Given the description of an element on the screen output the (x, y) to click on. 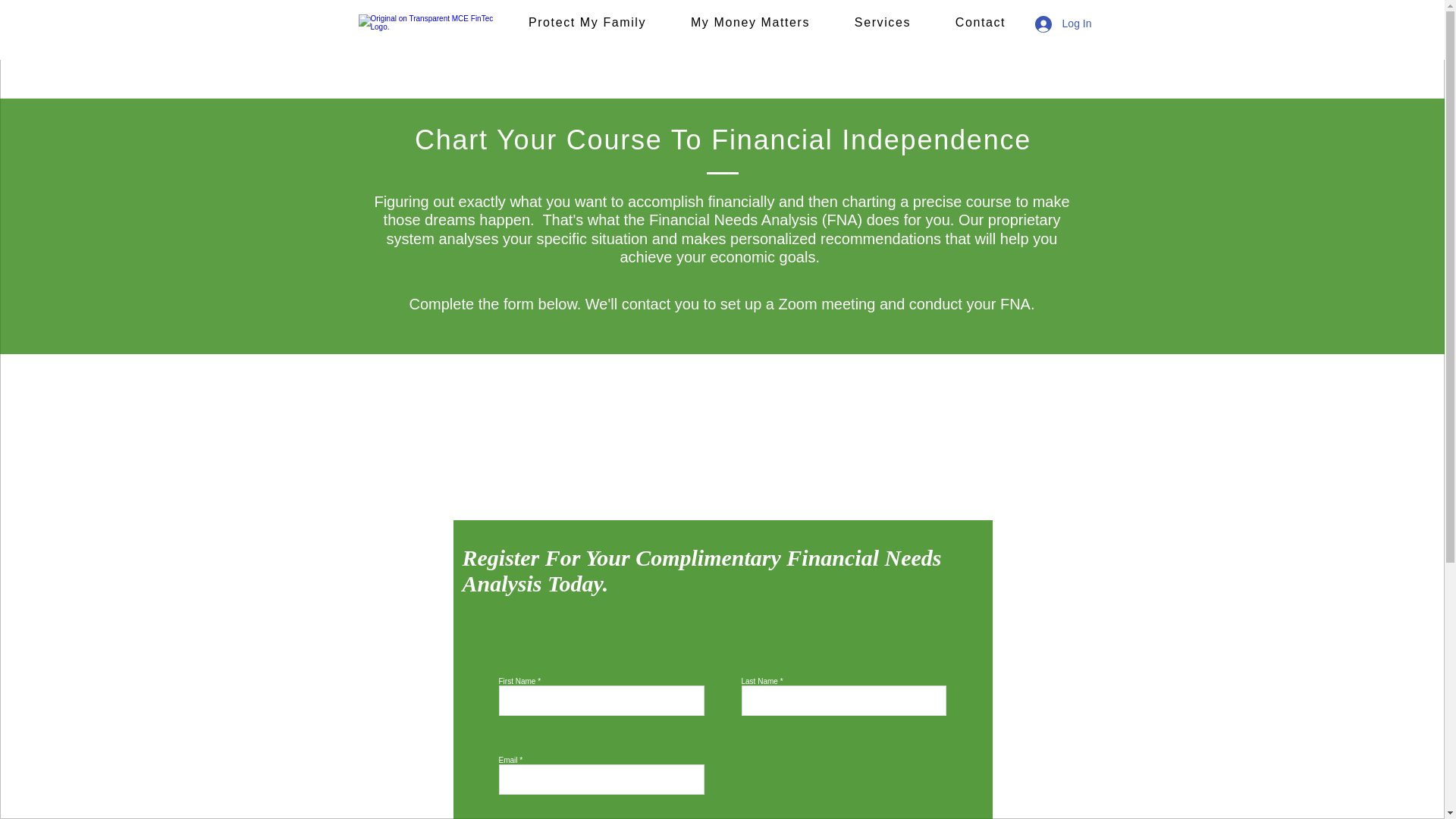
My Money Matters (750, 23)
Services (882, 23)
Log In (1063, 23)
Protect My Family (587, 23)
Contact (980, 23)
